Given the description of an element on the screen output the (x, y) to click on. 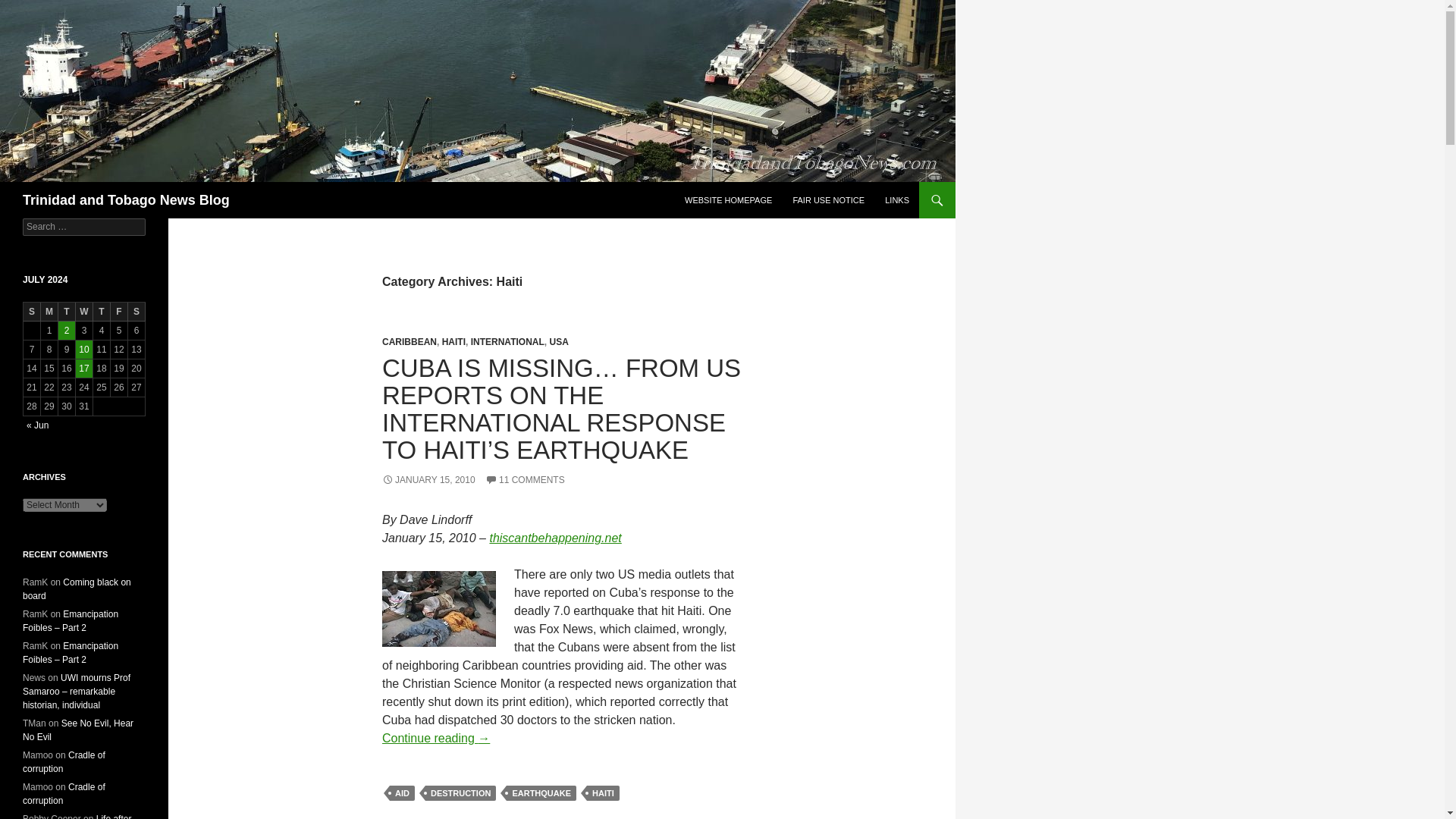
CARIBBEAN (408, 341)
thiscantbehappening.net (555, 537)
Saturday (136, 311)
Sunday (31, 311)
Thursday (101, 311)
EARTHQUAKE (541, 792)
Trinidad and Tobago News Blog (126, 199)
Tuesday (66, 311)
HAITI (453, 341)
AID (402, 792)
USA (557, 341)
Friday (119, 311)
DESTRUCTION (460, 792)
INTERNATIONAL (507, 341)
